Given the description of an element on the screen output the (x, y) to click on. 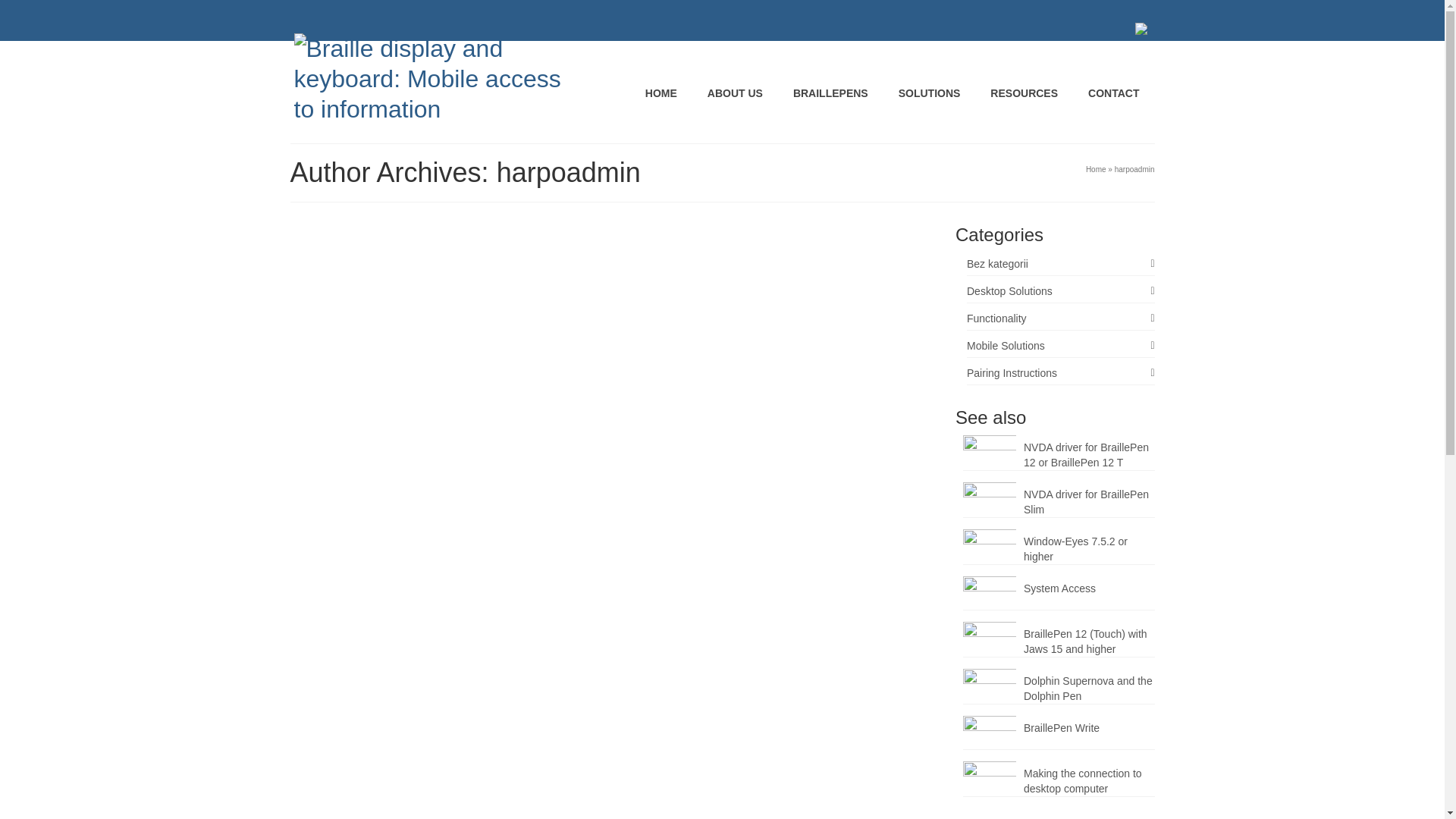
HOME (661, 92)
Home (1096, 169)
NVDA driver for BraillePen Slim (1058, 499)
BRAILLEPENS (830, 92)
RESOURCES (1024, 92)
SOLUTIONS (929, 92)
ABOUT US (735, 92)
CONTACT (1113, 92)
NVDA driver for BraillePen 12 or BraillePen 12 T (1058, 452)
